Given the description of an element on the screen output the (x, y) to click on. 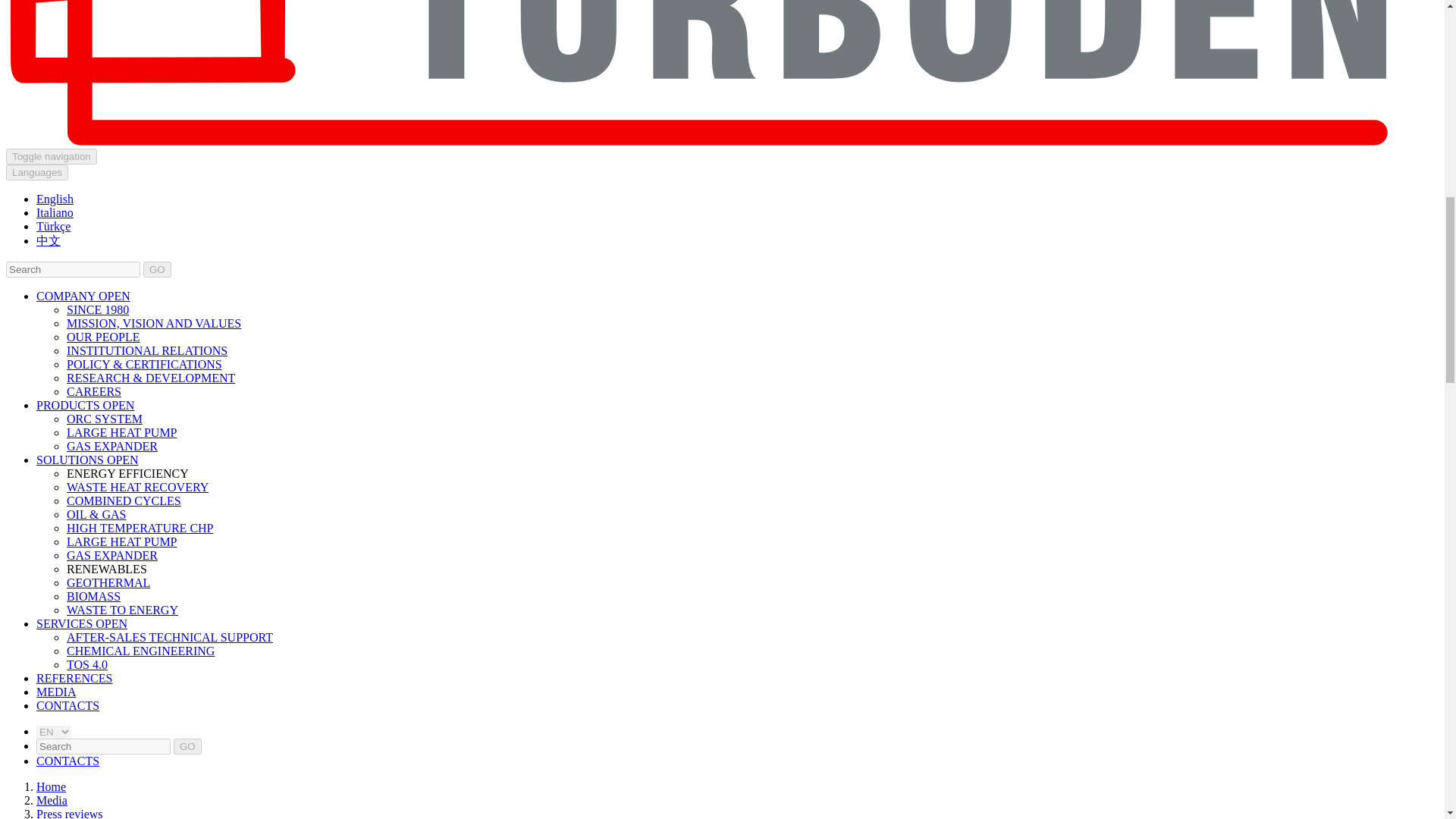
CAREERS (93, 391)
Company (67, 295)
SERVICES (66, 623)
GAS EXPANDER (111, 445)
Our People (102, 336)
LARGE HEAT PUMP (121, 541)
BIOMASS (93, 595)
HIGH TEMPERATURE CHP (140, 527)
AFTER-SALES TECHNICAL SUPPORT (169, 636)
CHEMICAL ENGINEERING (140, 650)
SOLUTIONS (71, 459)
Italiano (55, 212)
COMBINED CYCLES (123, 500)
Italiano (55, 212)
Institutional Relations (146, 350)
